Given the description of an element on the screen output the (x, y) to click on. 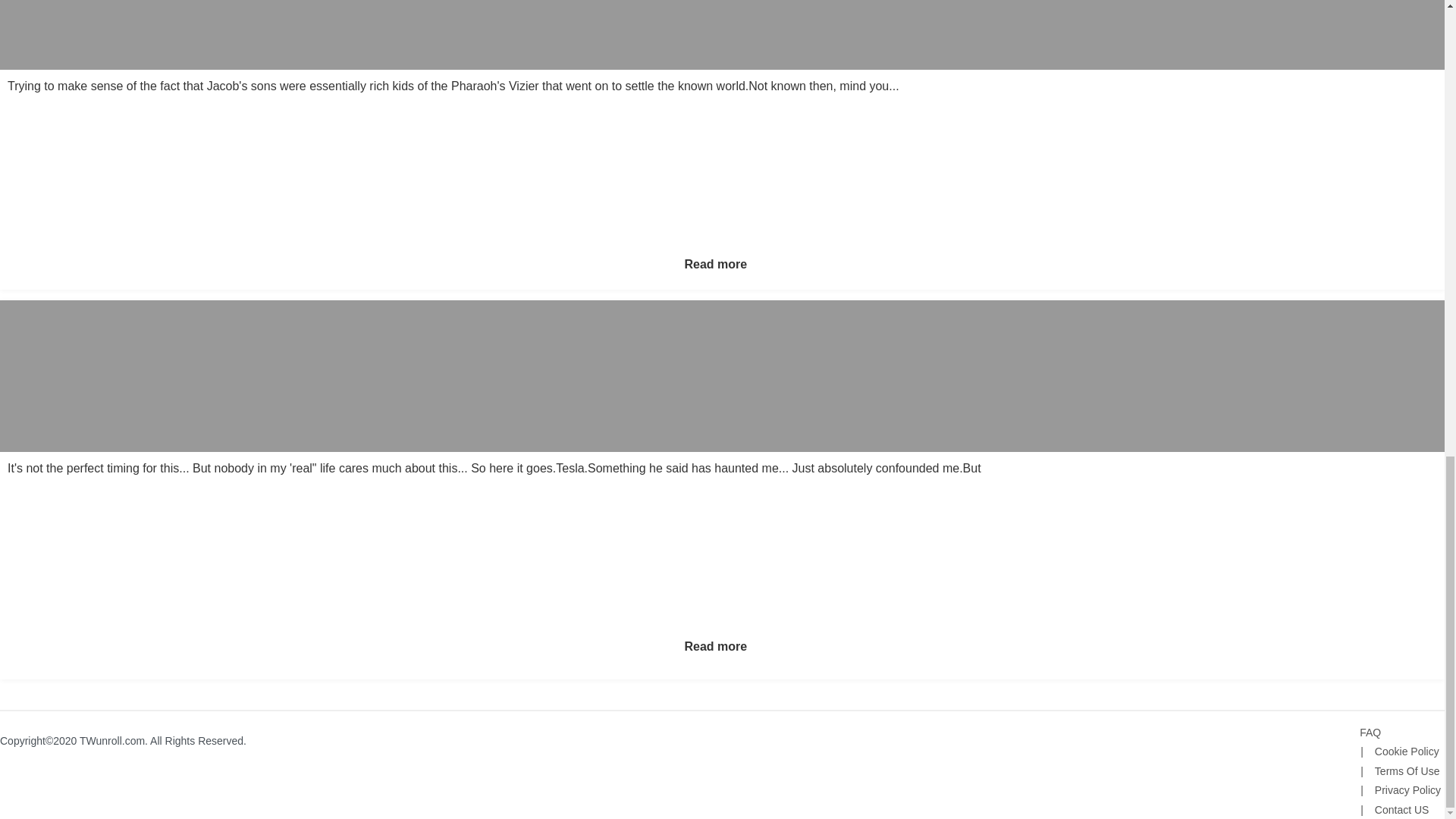
Read more (715, 645)
Cookie Policy (1398, 751)
Terms Of Use (1399, 770)
Privacy Policy (1400, 789)
FAQ (1369, 732)
Read more (715, 264)
Contact US (1393, 809)
